Given the description of an element on the screen output the (x, y) to click on. 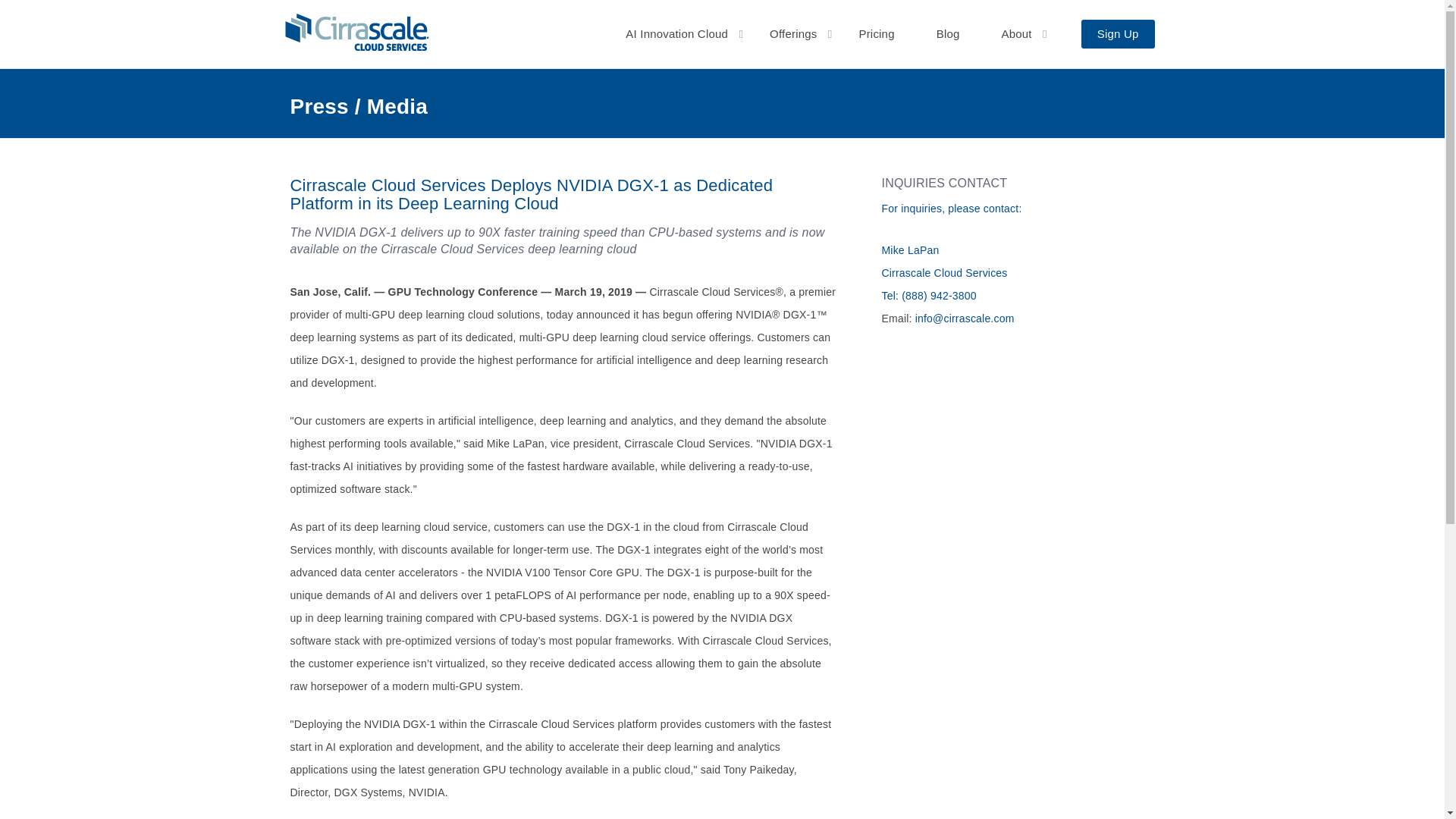
AI Innovation Cloud (676, 33)
Offerings (792, 33)
